Given the description of an element on the screen output the (x, y) to click on. 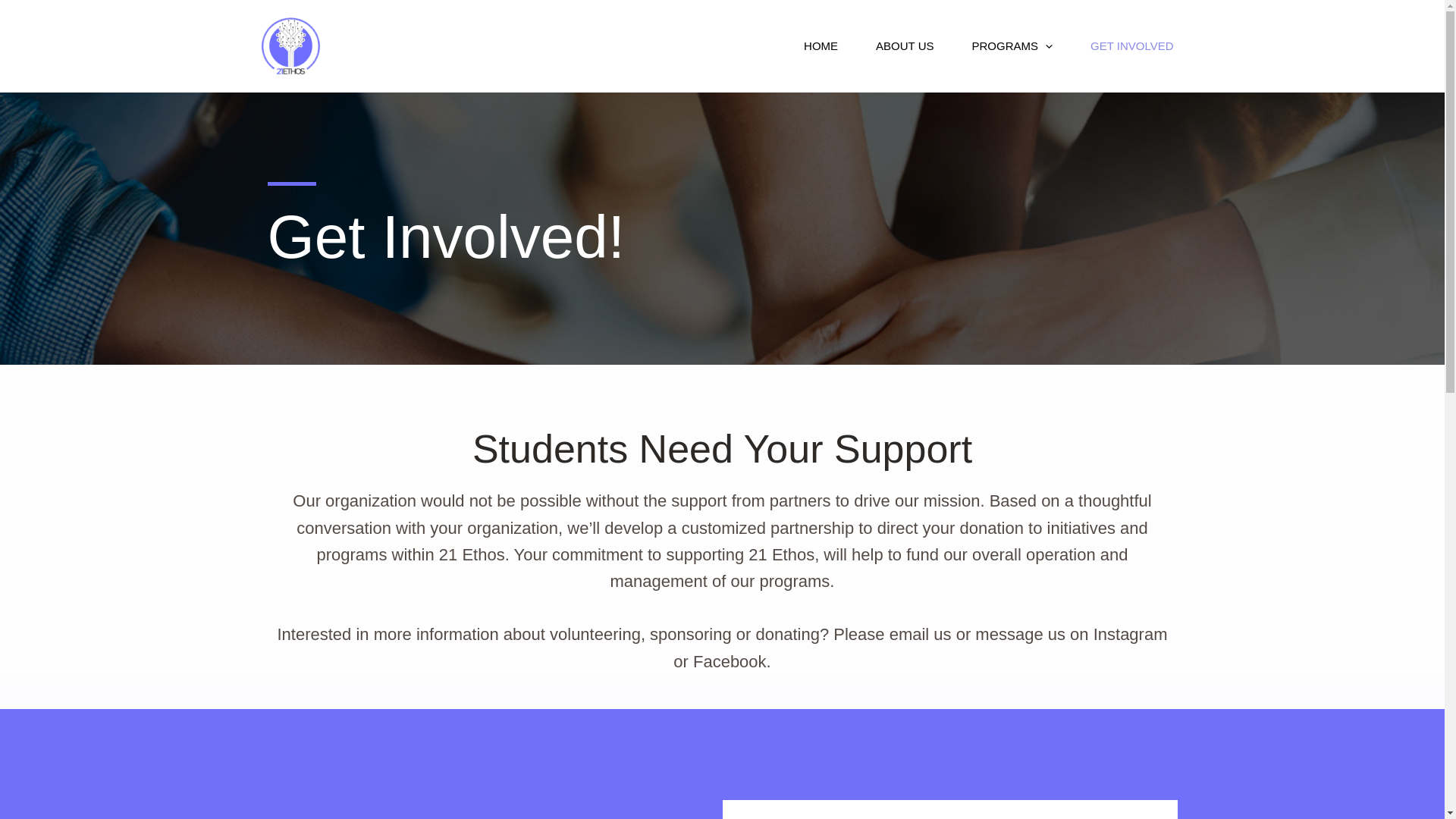
PROGRAMS Element type: text (1011, 46)
ABOUT US Element type: text (904, 46)
GET INVOLVED Element type: text (1131, 46)
HOME Element type: text (820, 46)
